Given the description of an element on the screen output the (x, y) to click on. 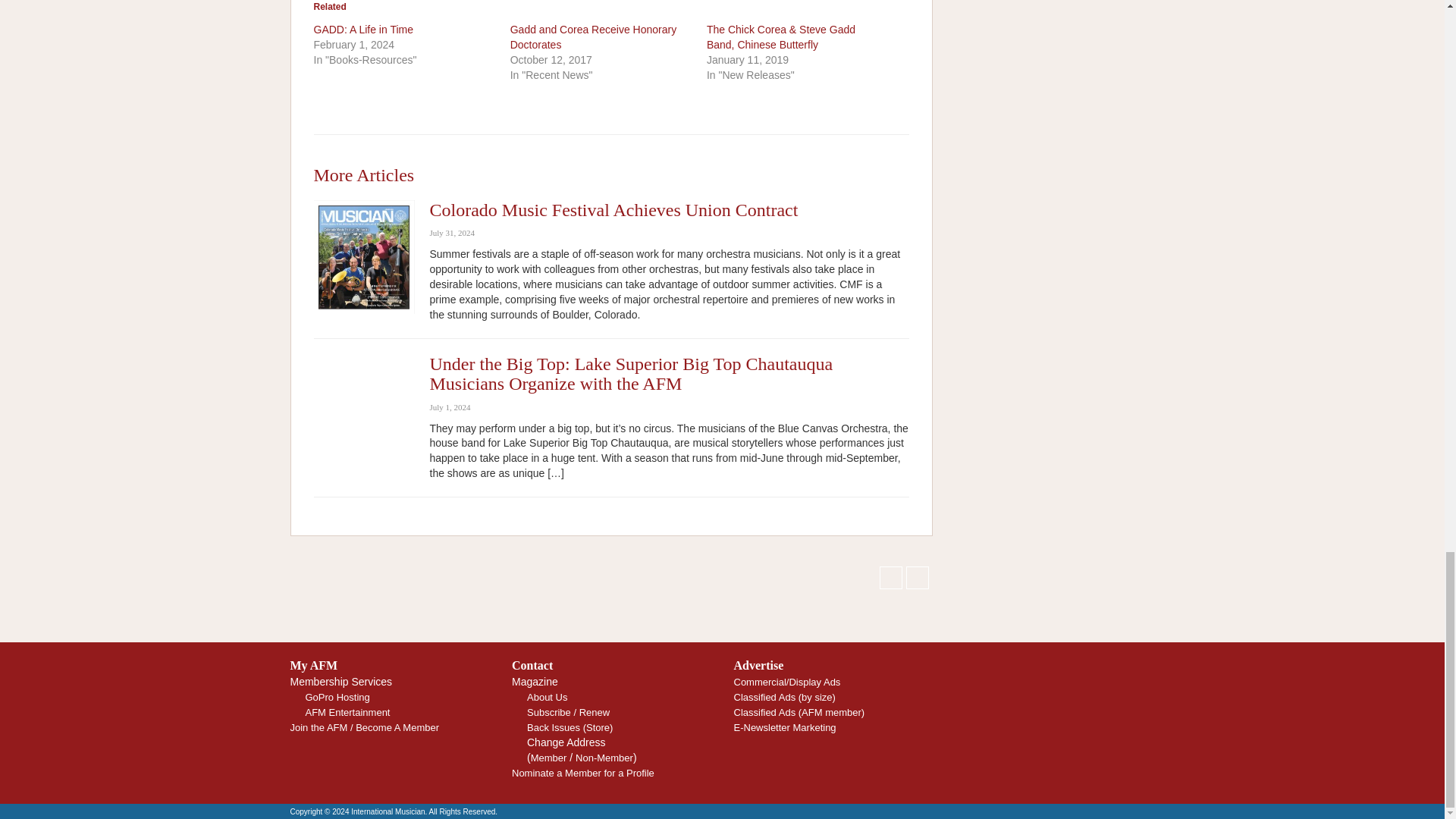
Colorado Music Festival Achieves Union Contract (613, 209)
Gadd and Corea Receive Honorary Doctorates (594, 36)
GADD: A Life in Time (363, 29)
